Given the description of an element on the screen output the (x, y) to click on. 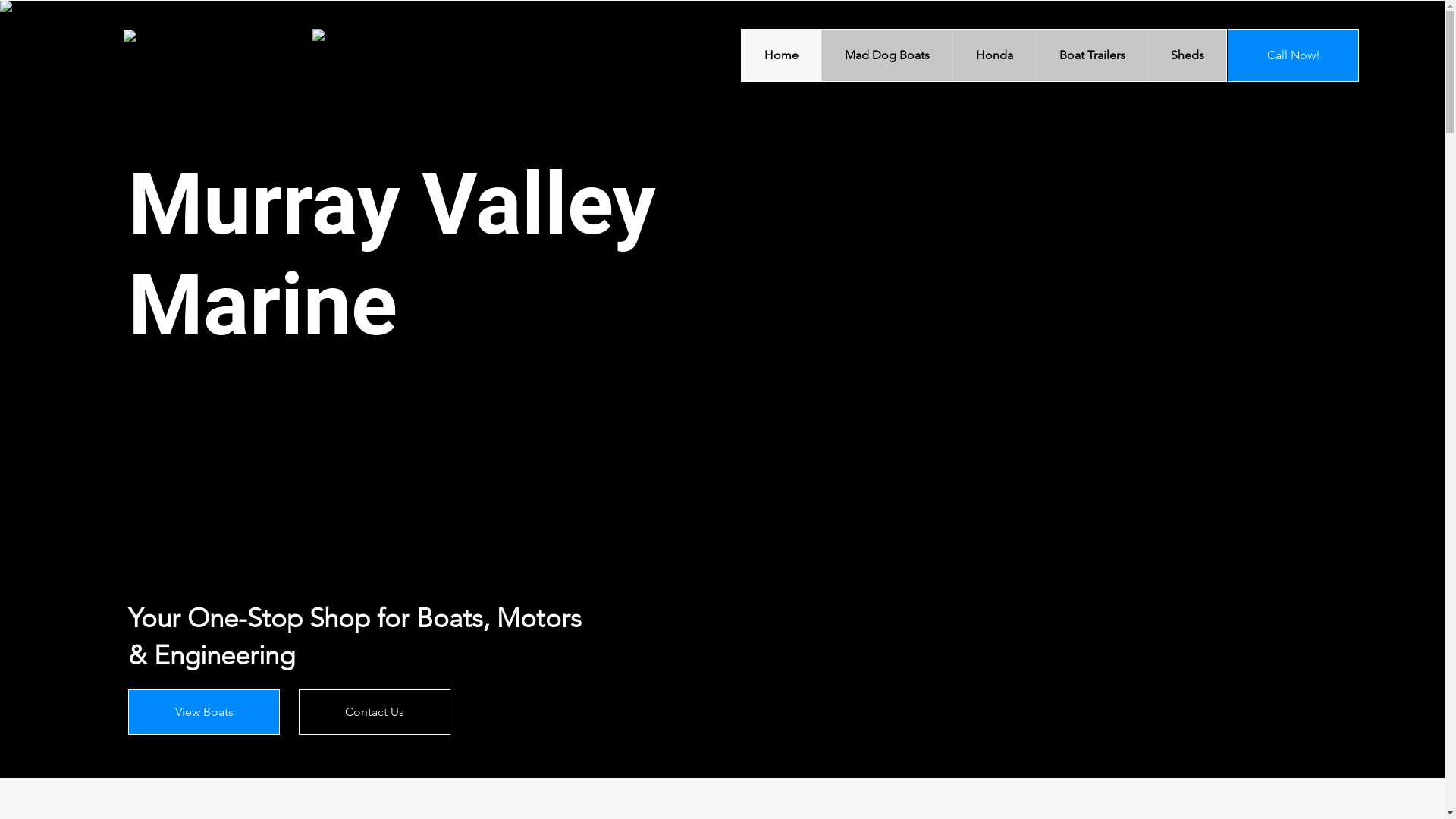
Mad Dog Boats Element type: text (886, 55)
Sheds Element type: text (1186, 55)
Contact Us Element type: text (374, 711)
View Boats Element type: text (203, 711)
Call Now! Element type: text (1292, 54)
Honda Element type: text (993, 55)
Boat Trailers Element type: text (1091, 55)
Home Element type: text (781, 55)
